Given the description of an element on the screen output the (x, y) to click on. 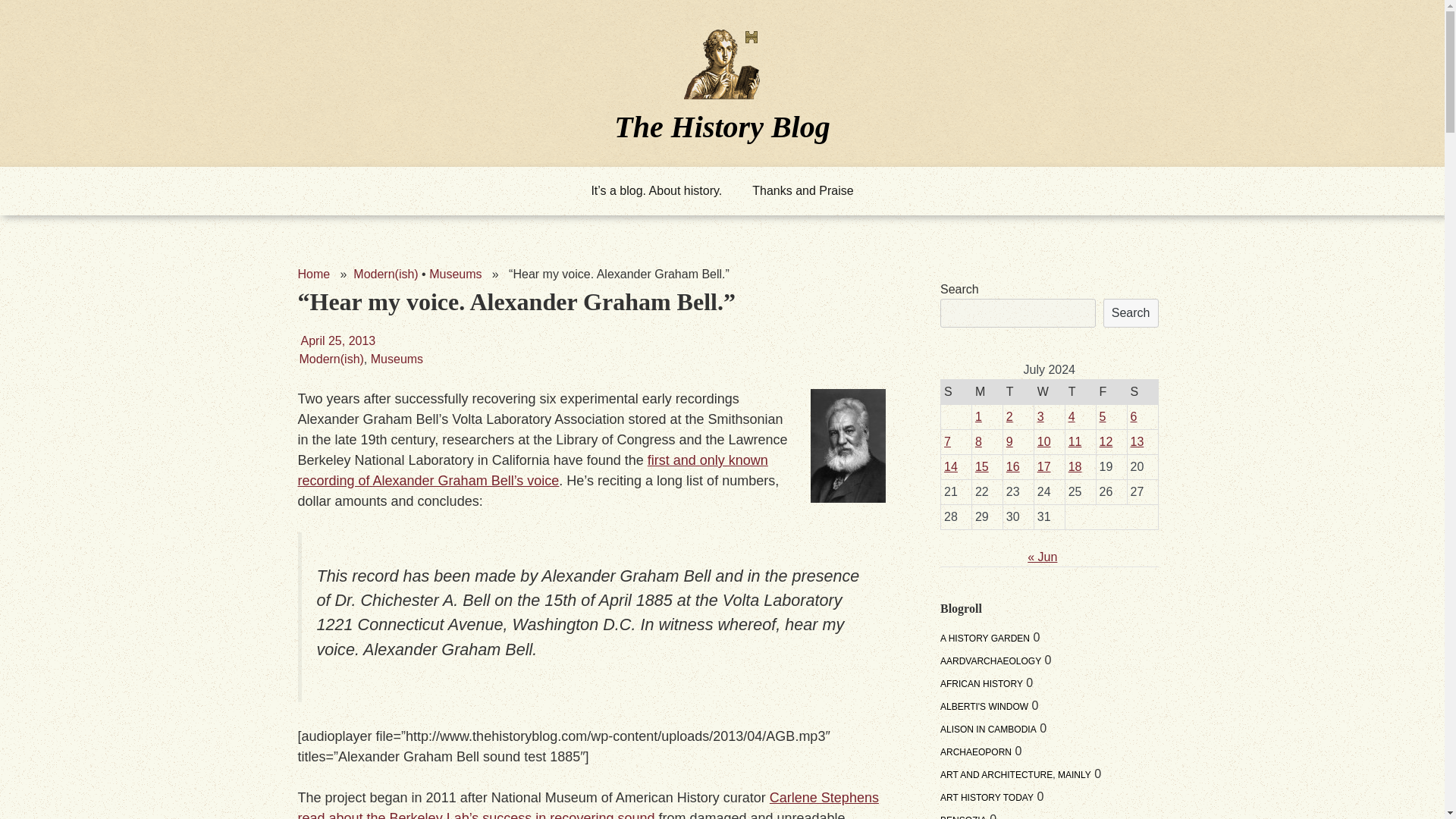
Tuesday (1018, 391)
Wednesday (1048, 391)
April 25, 2013 (336, 340)
Home (313, 273)
Sunday (955, 391)
Friday (1111, 391)
The History Blog (721, 125)
Monday (987, 391)
Thanks and Praise (801, 191)
Saturday (1141, 391)
Museums (397, 358)
Thursday (1080, 391)
Museums (455, 273)
